Given the description of an element on the screen output the (x, y) to click on. 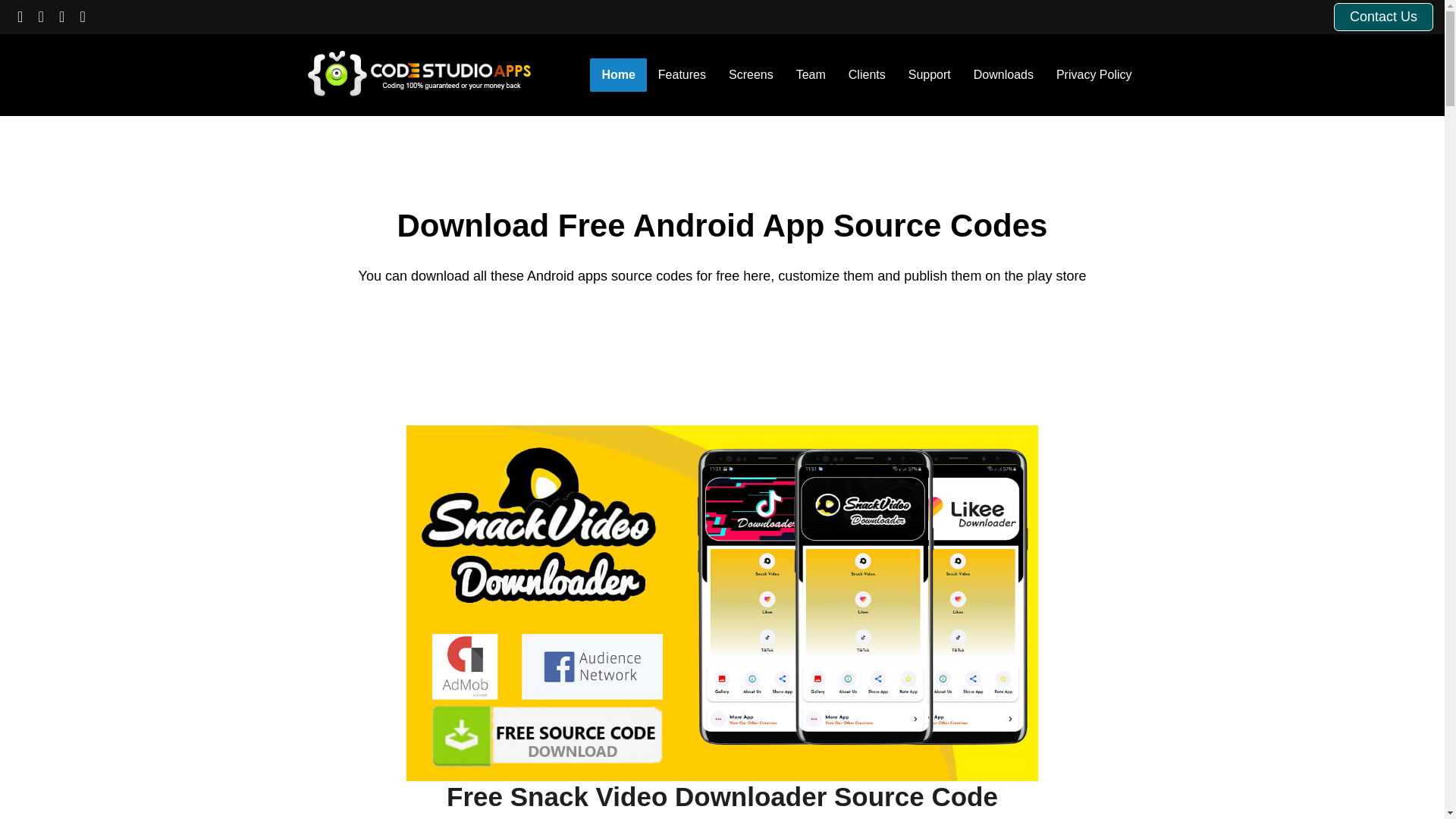
Contact Us (1382, 17)
Free Snack Video Downloader Source Code (721, 800)
Privacy Policy (1093, 75)
Clients (866, 75)
Screens (750, 75)
Support (929, 75)
Features (681, 75)
Downloads (1003, 75)
Team (810, 75)
Home (617, 75)
